Given the description of an element on the screen output the (x, y) to click on. 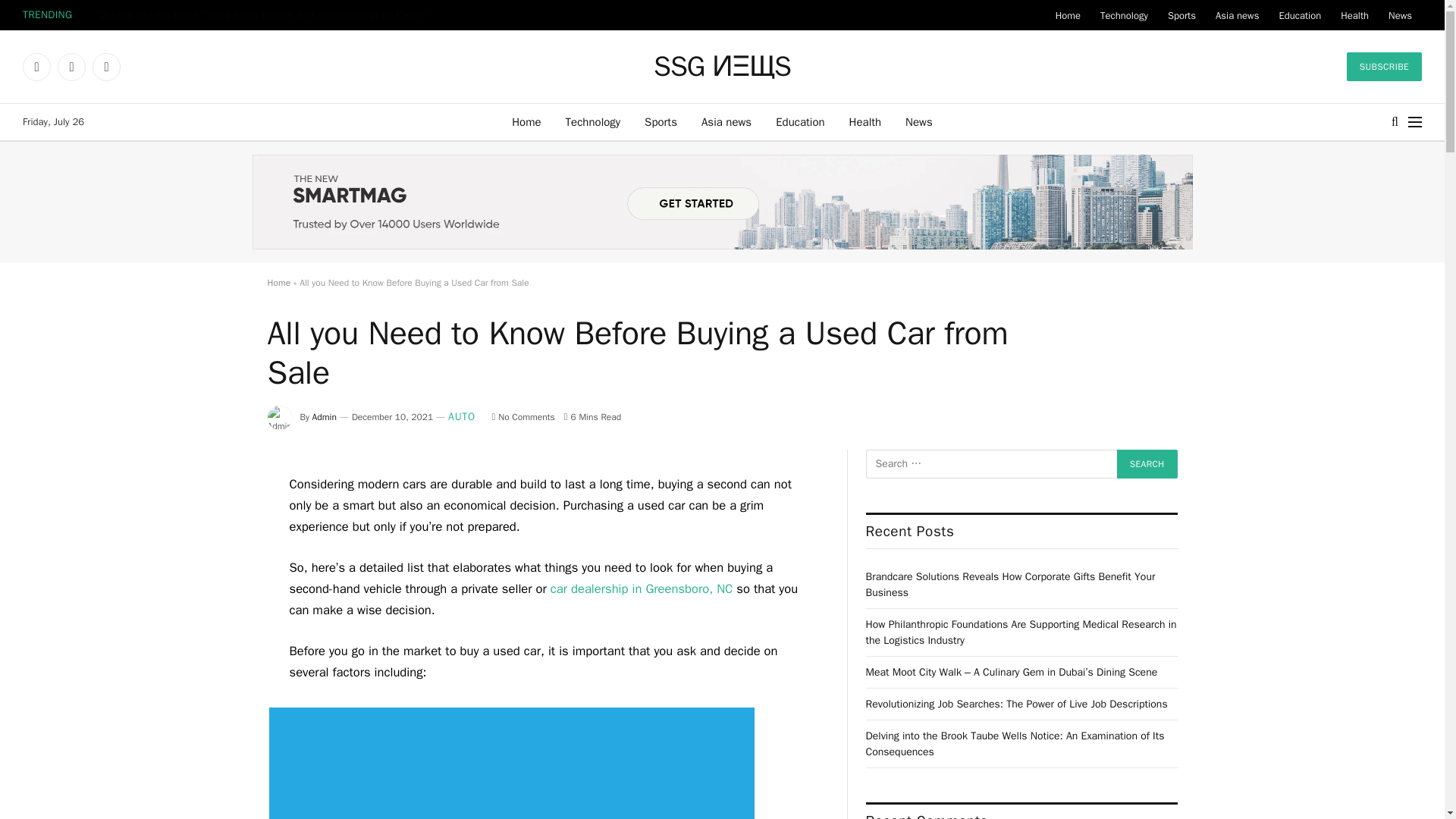
Health (865, 122)
Search (1146, 463)
News (1400, 15)
Education (798, 122)
Asia news (1236, 15)
Education (1299, 15)
Search (1146, 463)
SUBSCRIBE (1384, 66)
Sports (1181, 15)
Technology (593, 122)
Posts by Admin (324, 417)
Facebook (36, 67)
Sports (659, 122)
Home (526, 122)
